Given the description of an element on the screen output the (x, y) to click on. 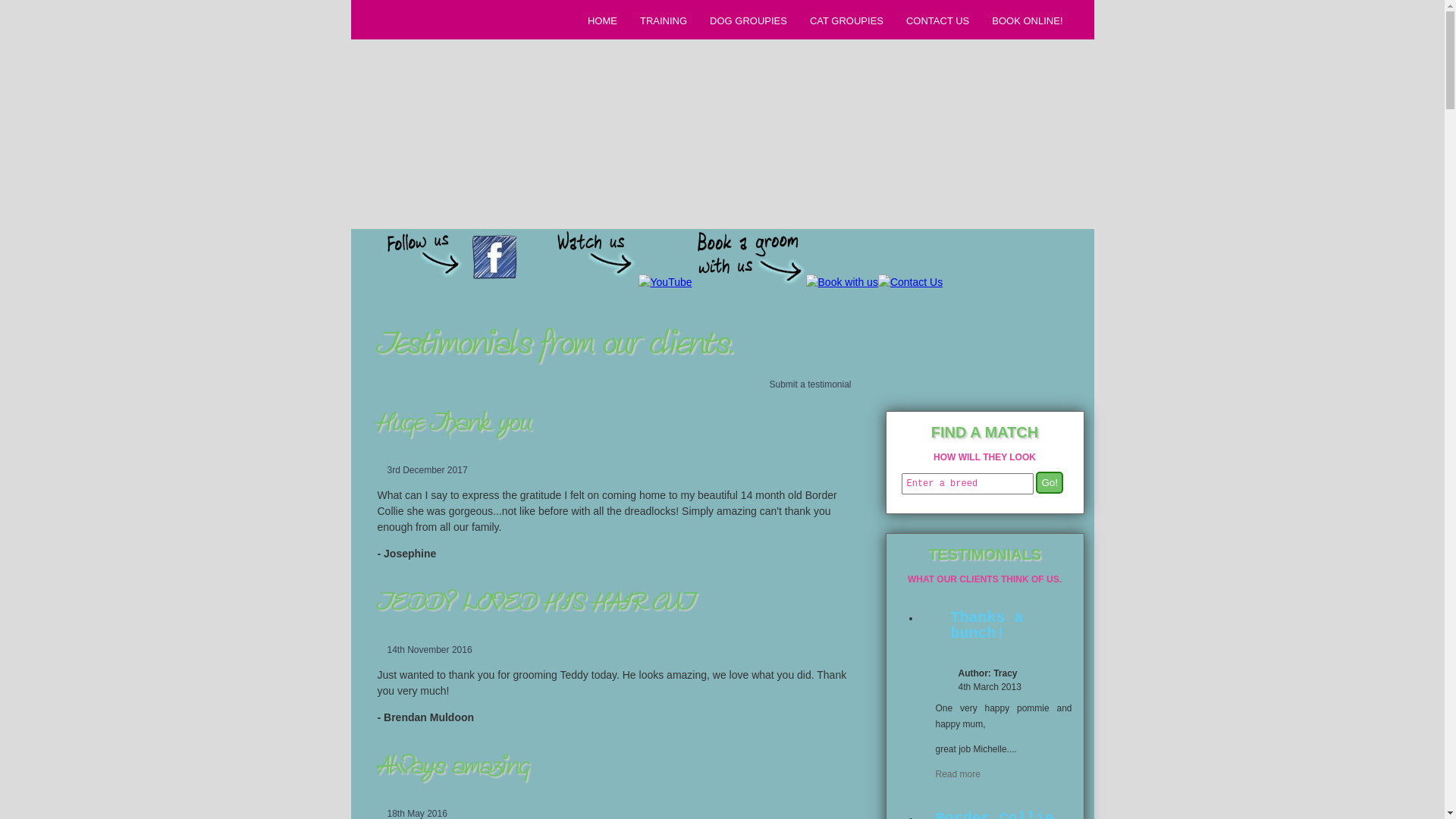
Go! Element type: text (1048, 482)
CONTACT US Element type: text (935, 20)
FIND A MATCH
HOW WILL THEY LOOK
Go! Element type: text (983, 348)
TRAINING Element type: text (661, 20)
BOOK ONLINE! Element type: text (1025, 20)
Thanks a bunch! Element type: text (999, 629)
Read more Element type: text (957, 773)
DOG GROUPIES Element type: text (746, 20)
CAT GROUPIES Element type: text (844, 20)
Darwin Pet Spa Element type: text (463, 85)
TESTIMONIALS
WHAT OUR CLIENTS THINK OF US. Element type: text (983, 562)
Submit a testimonial Element type: text (804, 384)
Thanks a bunch! Element type: text (1005, 627)
HOME Element type: text (600, 20)
